Given the description of an element on the screen output the (x, y) to click on. 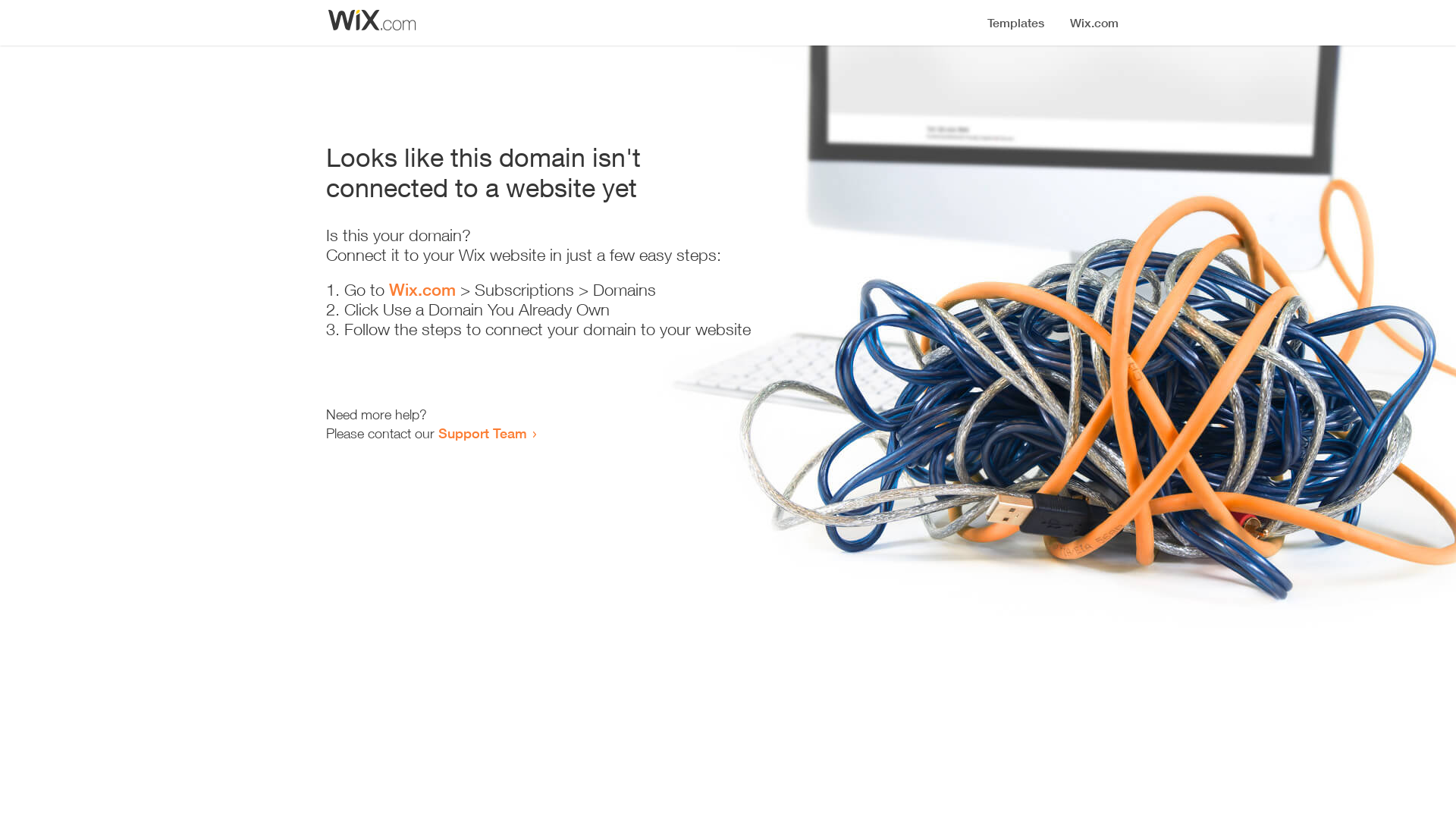
Wix.com Element type: text (422, 289)
Support Team Element type: text (482, 432)
